Given the description of an element on the screen output the (x, y) to click on. 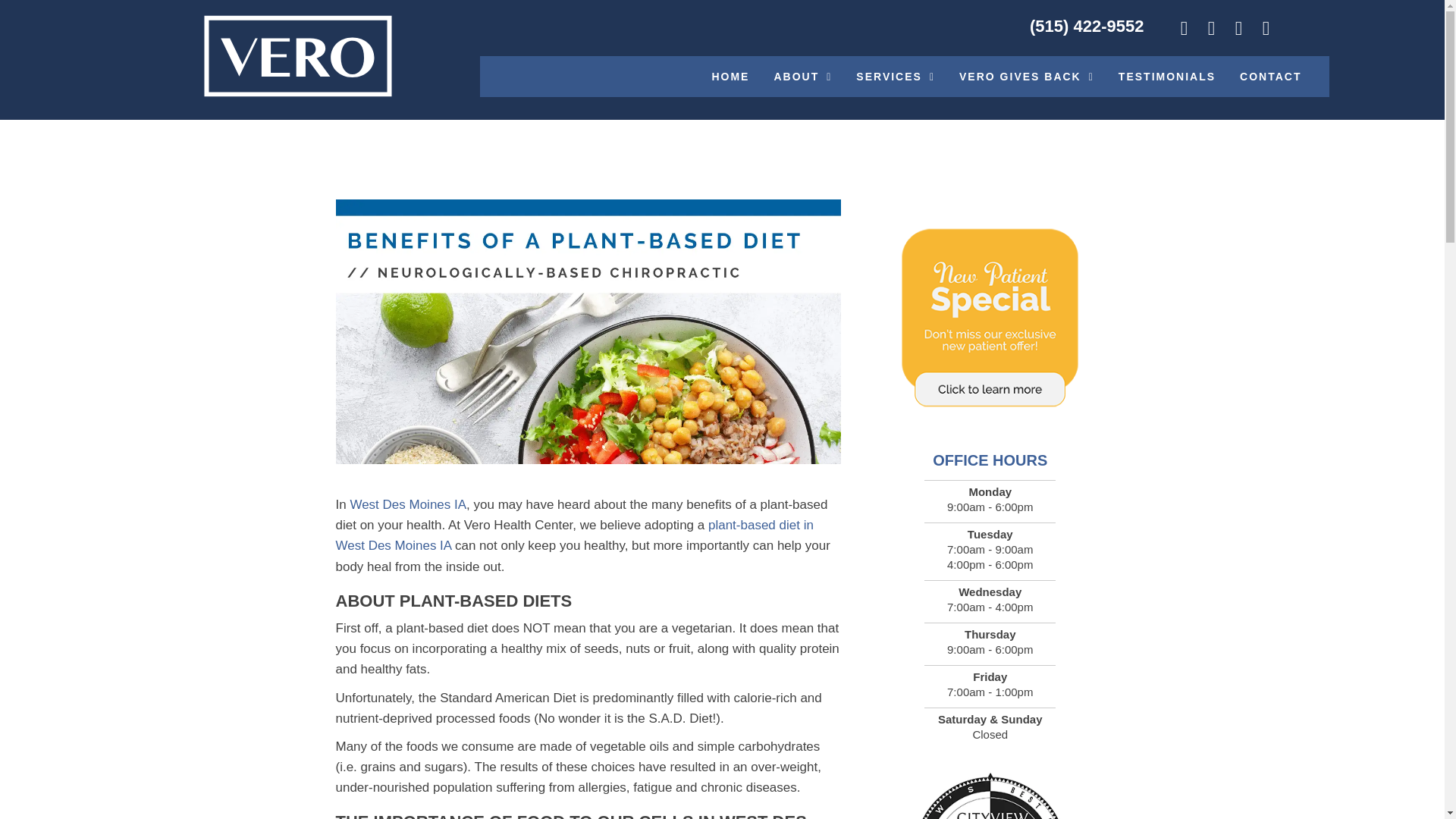
Chiropractic West Des Moines IA Benefits of Plant Based Diet (587, 331)
SERVICES (895, 76)
CV Best Logo (989, 796)
ABOUT (802, 76)
Chronic Pain West Des Moines IA Vero Health Center (298, 55)
HOME (730, 76)
